Given the description of an element on the screen output the (x, y) to click on. 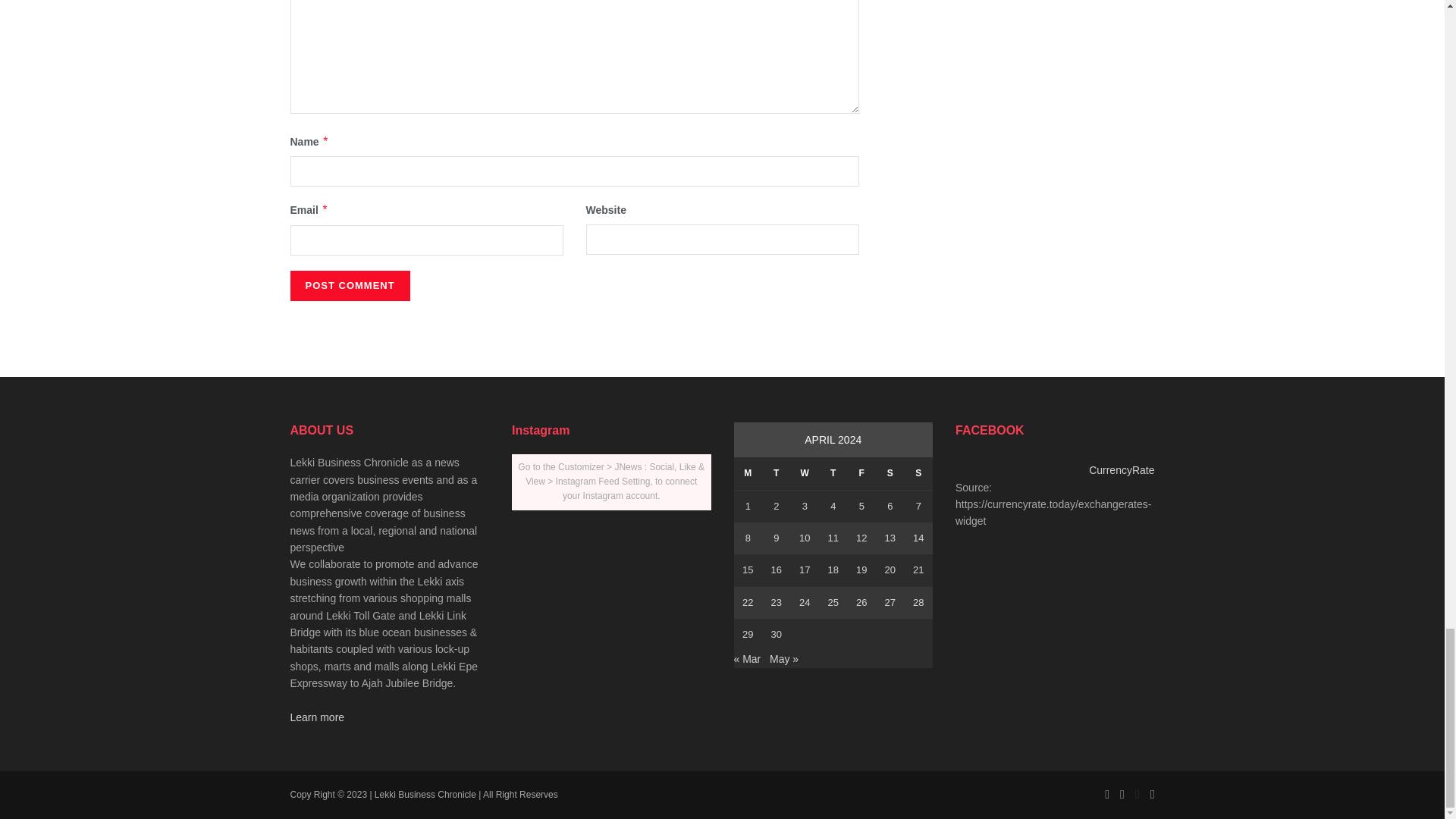
Friday (861, 473)
Monday (747, 473)
Thursday (832, 473)
Wednesday (804, 473)
Post Comment (349, 286)
Saturday (890, 473)
Tuesday (775, 473)
